Given the description of an element on the screen output the (x, y) to click on. 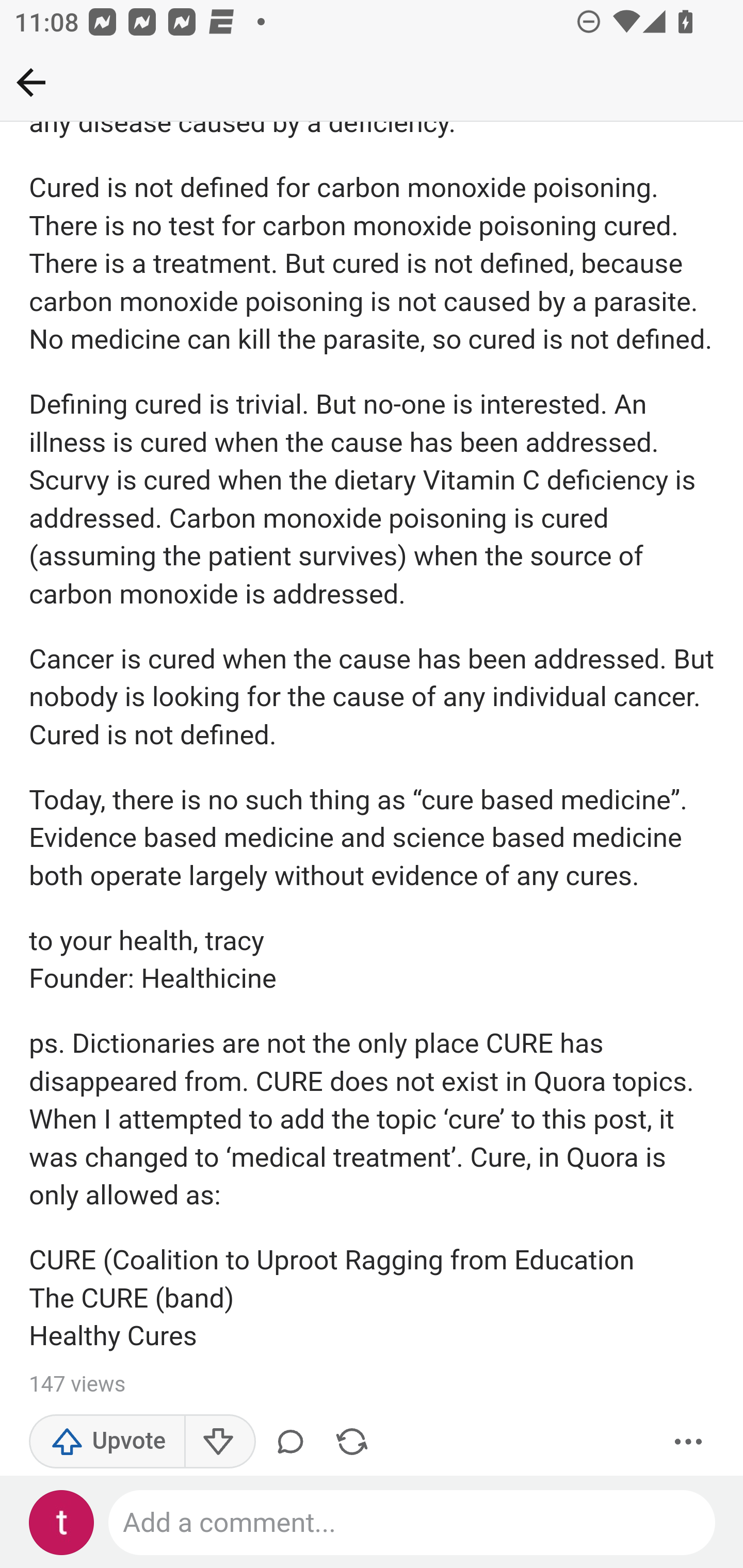
Back (30, 82)
Upvote (106, 1442)
Downvote (219, 1442)
Comment (293, 1442)
Share (351, 1442)
More (688, 1442)
Profile photo for Test Appium (61, 1523)
Add a comment... (412, 1523)
